Given the description of an element on the screen output the (x, y) to click on. 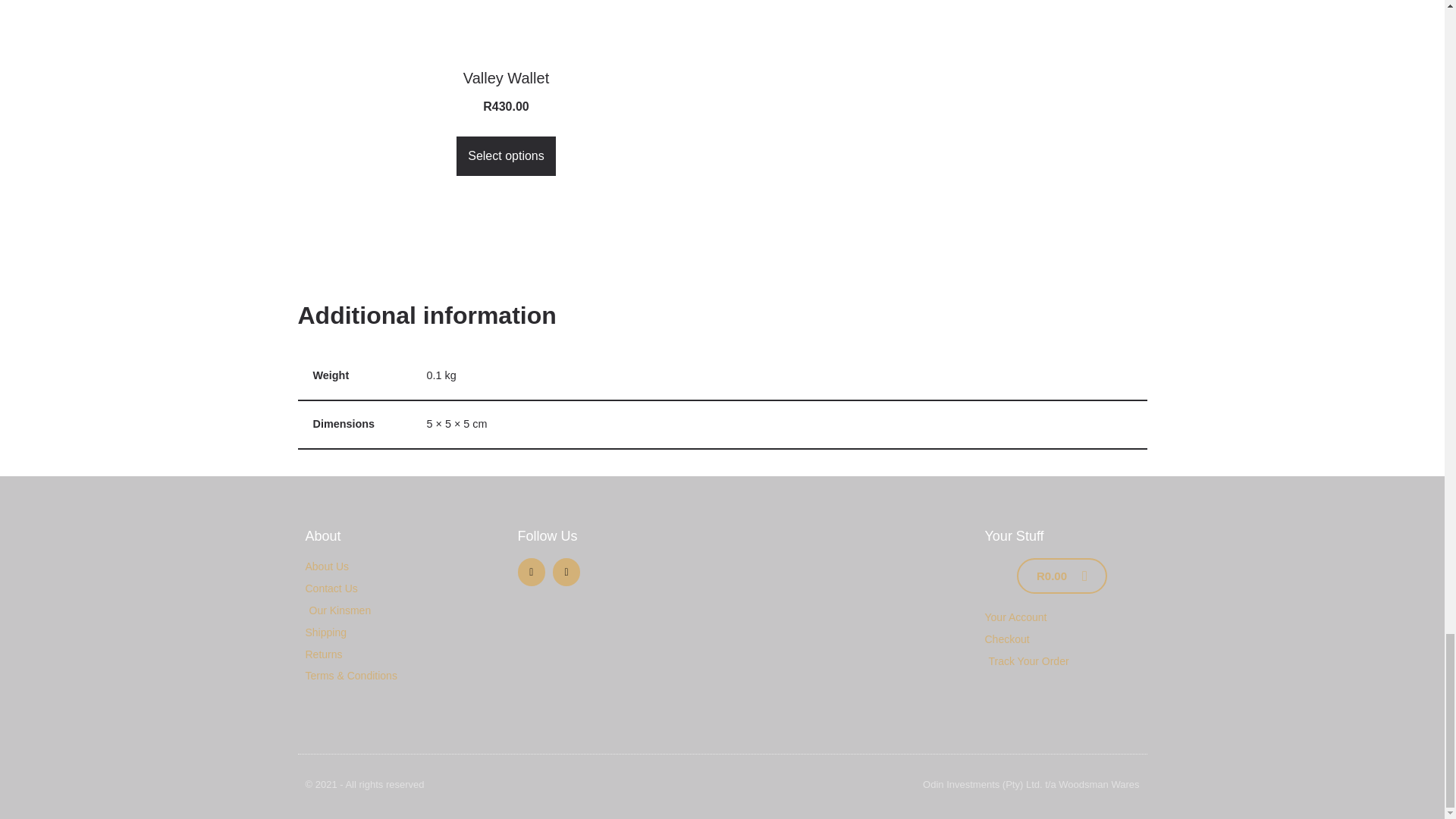
Your Account (1061, 618)
Returns (403, 655)
Shipping (403, 633)
Select options (506, 156)
About Us (403, 566)
R0.00 (1061, 575)
Our Kinsmen (506, 58)
Contact Us (403, 610)
